Given the description of an element on the screen output the (x, y) to click on. 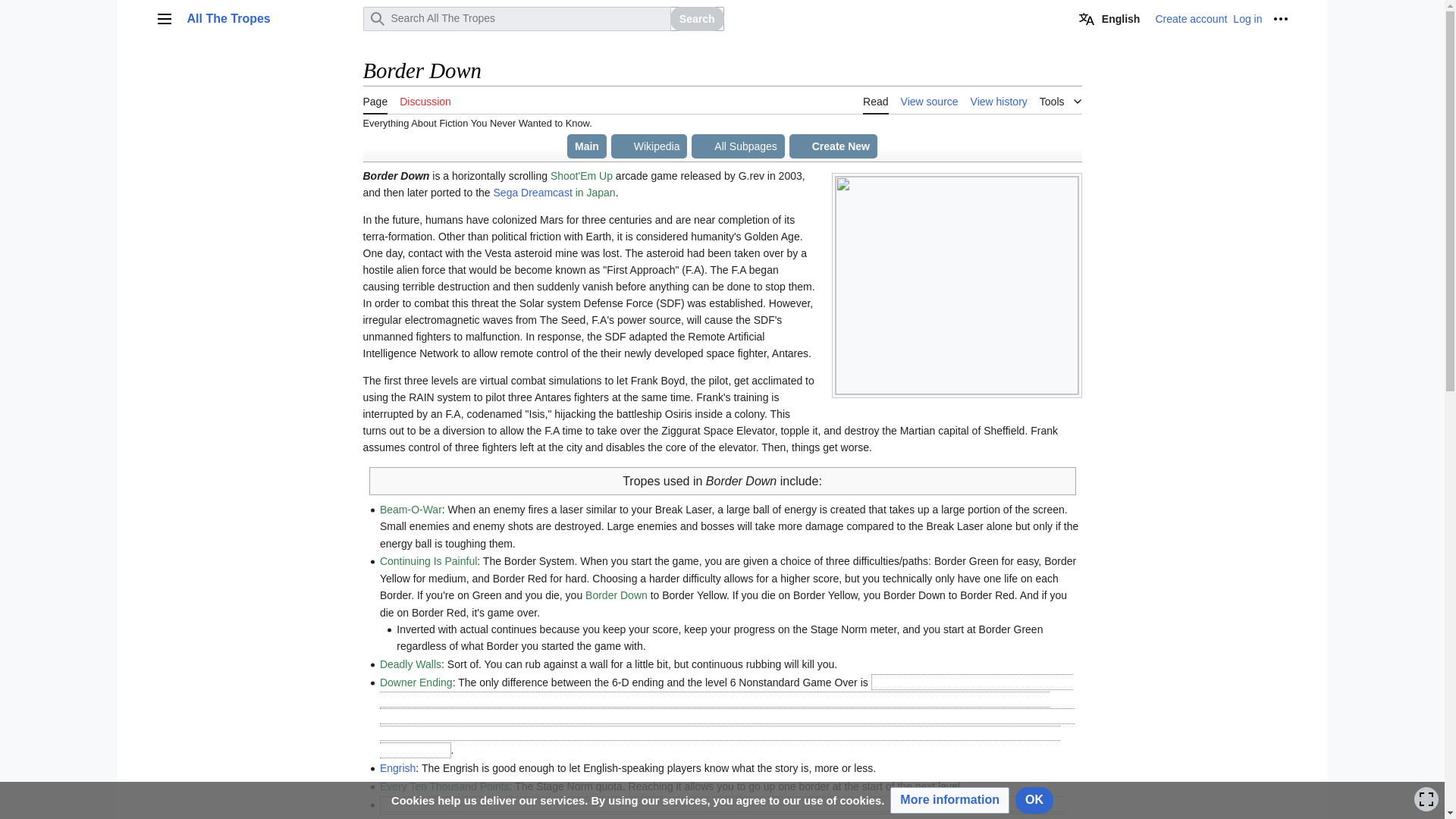
View history (999, 100)
Log in (1247, 19)
Read (875, 100)
English (1110, 18)
More options (1280, 18)
View source (929, 100)
Search (696, 18)
Create account (1190, 19)
Discussion (424, 100)
All The Tropes (270, 18)
Page (374, 100)
